Given the description of an element on the screen output the (x, y) to click on. 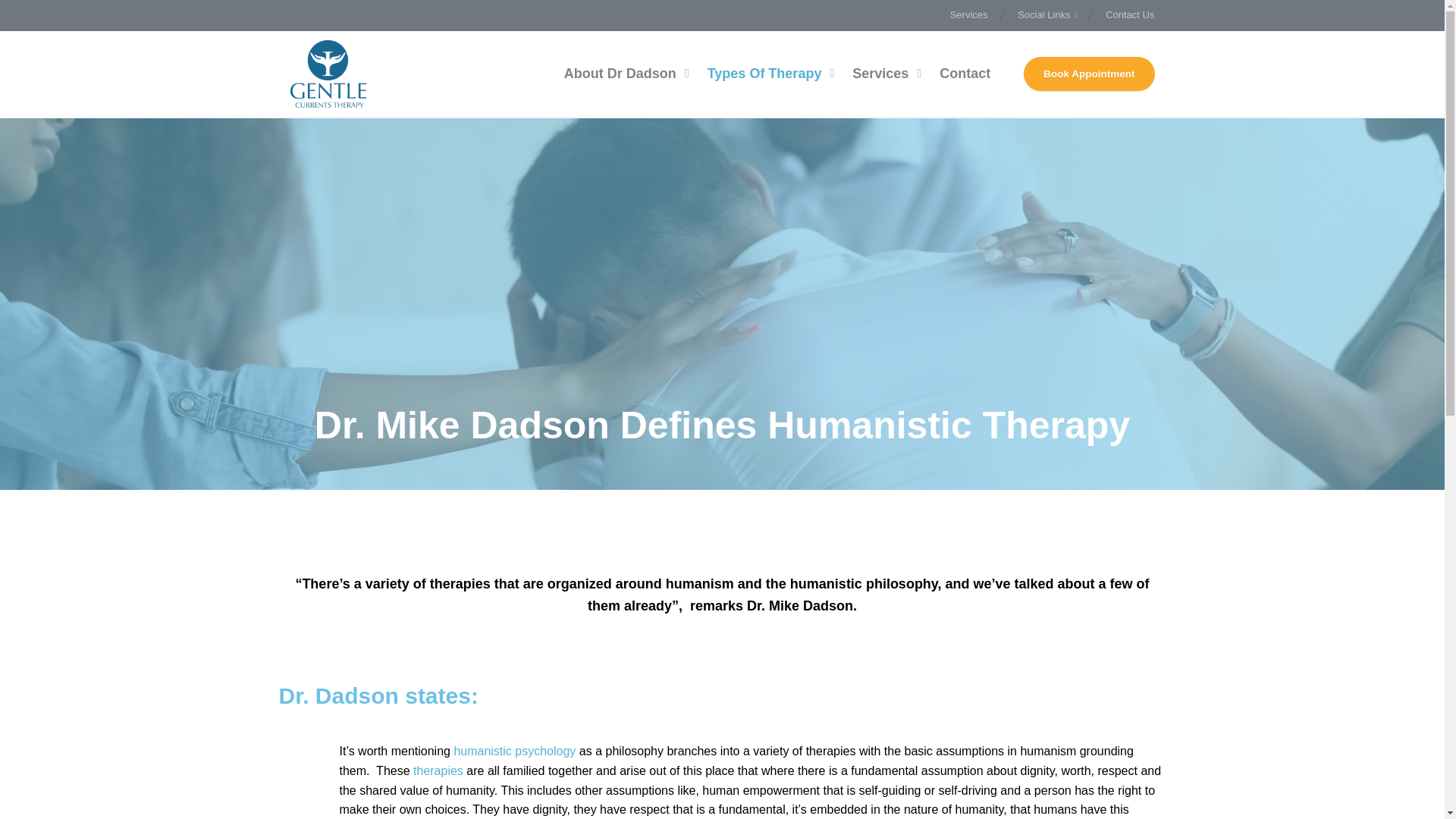
Services (976, 15)
Social Links (1046, 15)
Contact Us (1123, 15)
